Given the description of an element on the screen output the (x, y) to click on. 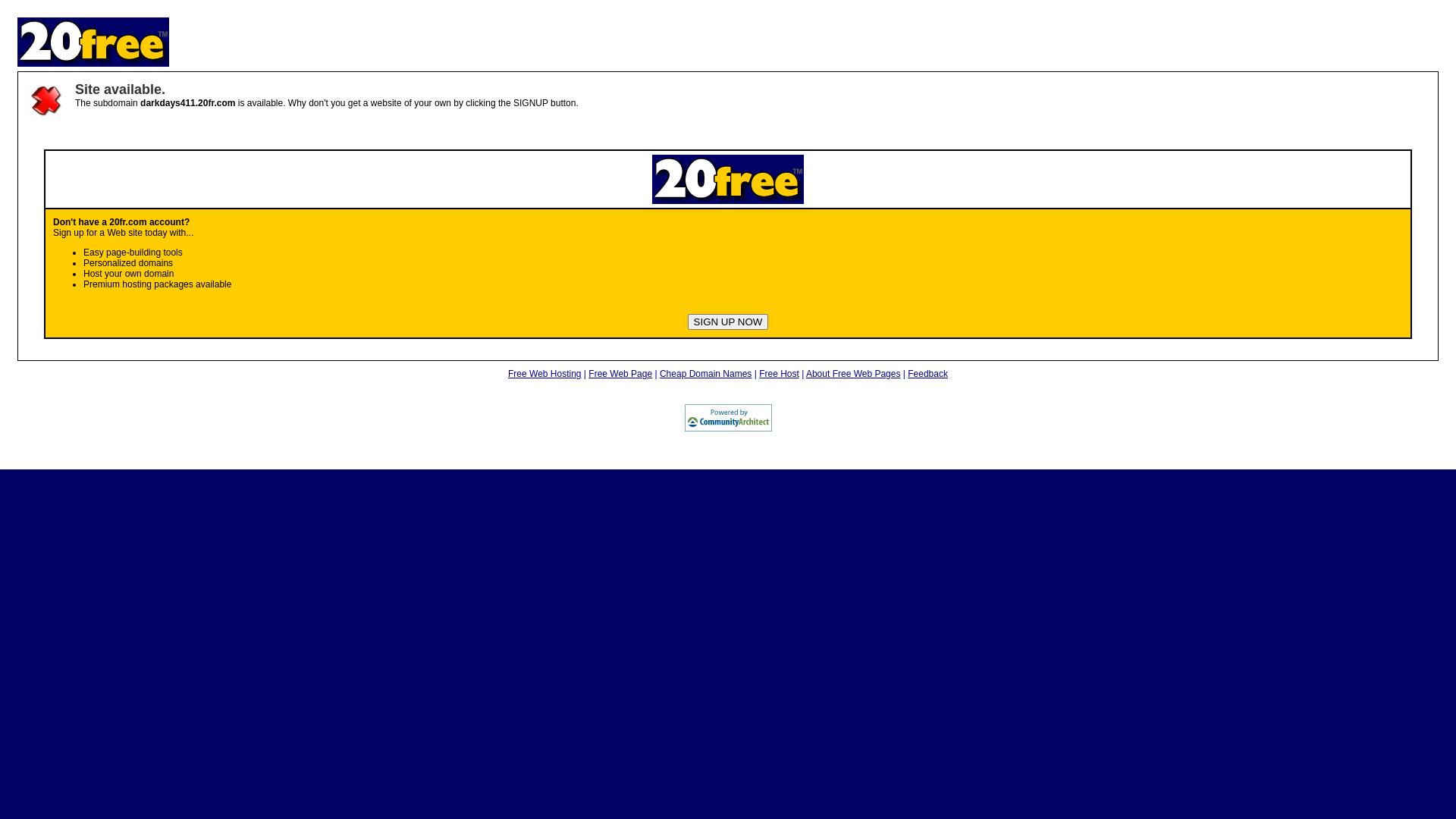
SIGN UP NOW Element type: text (727, 321)
Free Web Page Element type: text (620, 373)
Feedback Element type: text (927, 373)
Free Host Element type: text (779, 373)
Free Web Hosting Element type: text (544, 373)
About Free Web Pages Element type: text (853, 373)
Cheap Domain Names Element type: text (705, 373)
